Given the description of an element on the screen output the (x, y) to click on. 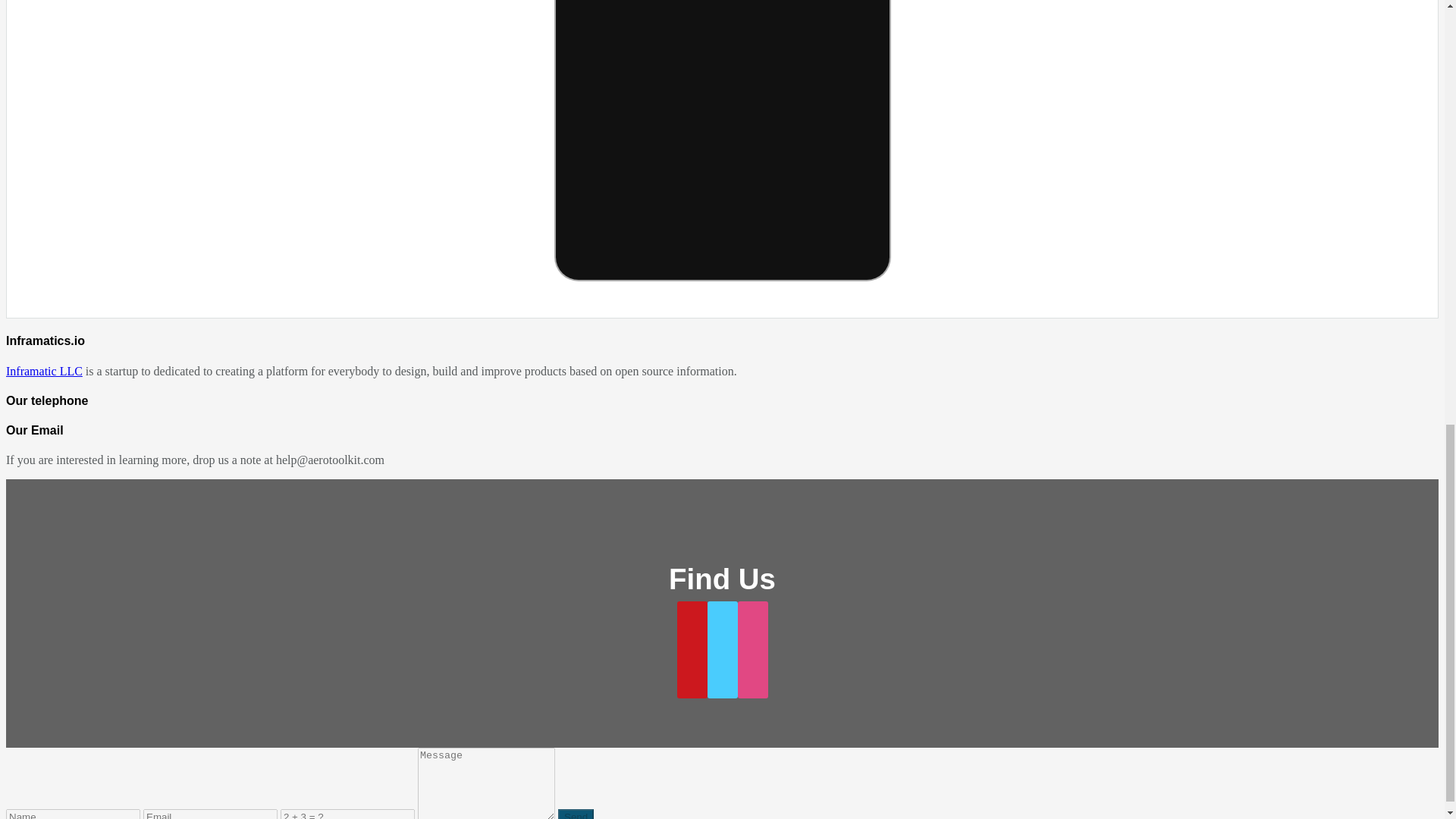
Inframatic LLC (43, 370)
